Given the description of an element on the screen output the (x, y) to click on. 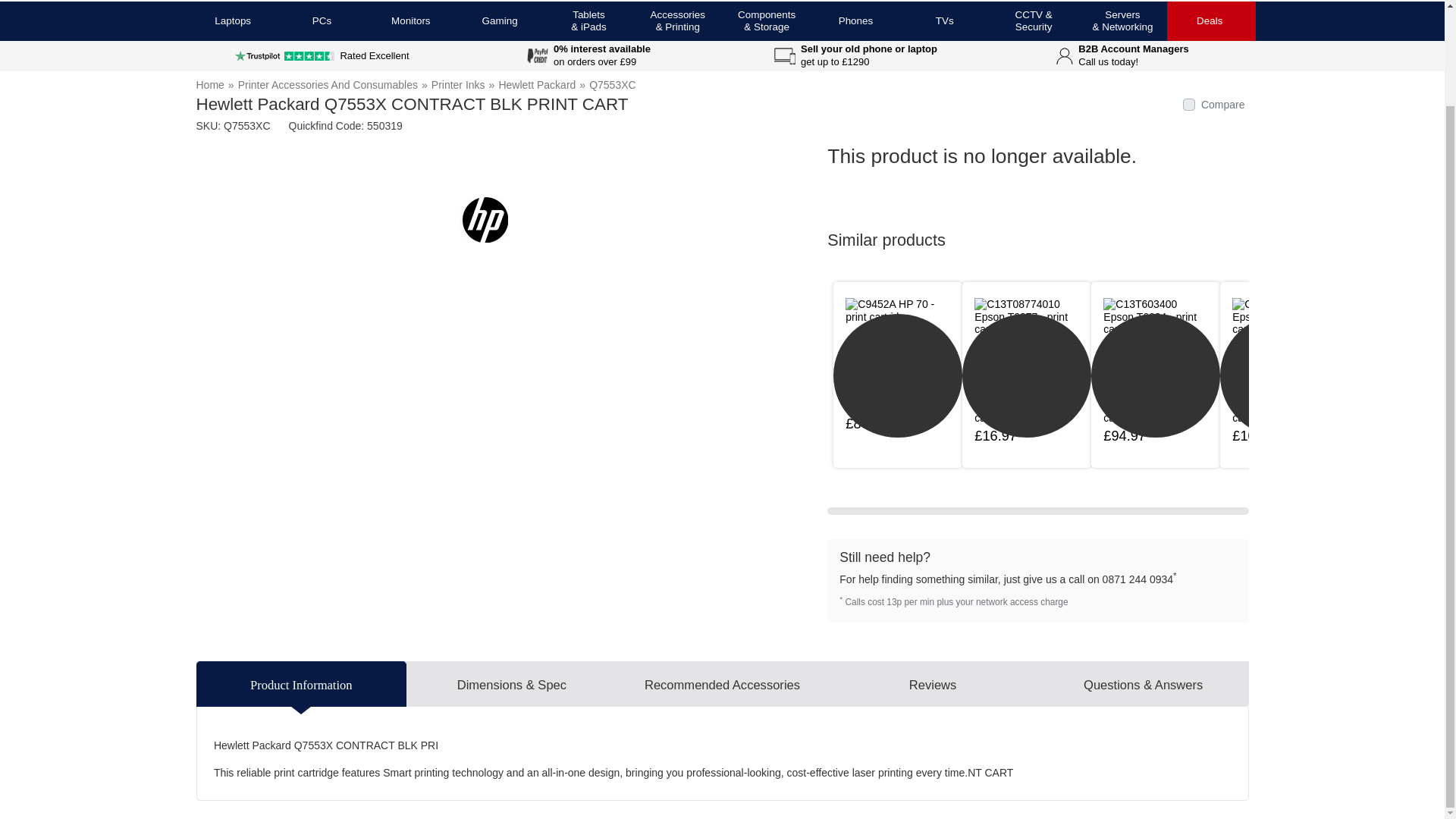
Laptops (231, 20)
